Given the description of an element on the screen output the (x, y) to click on. 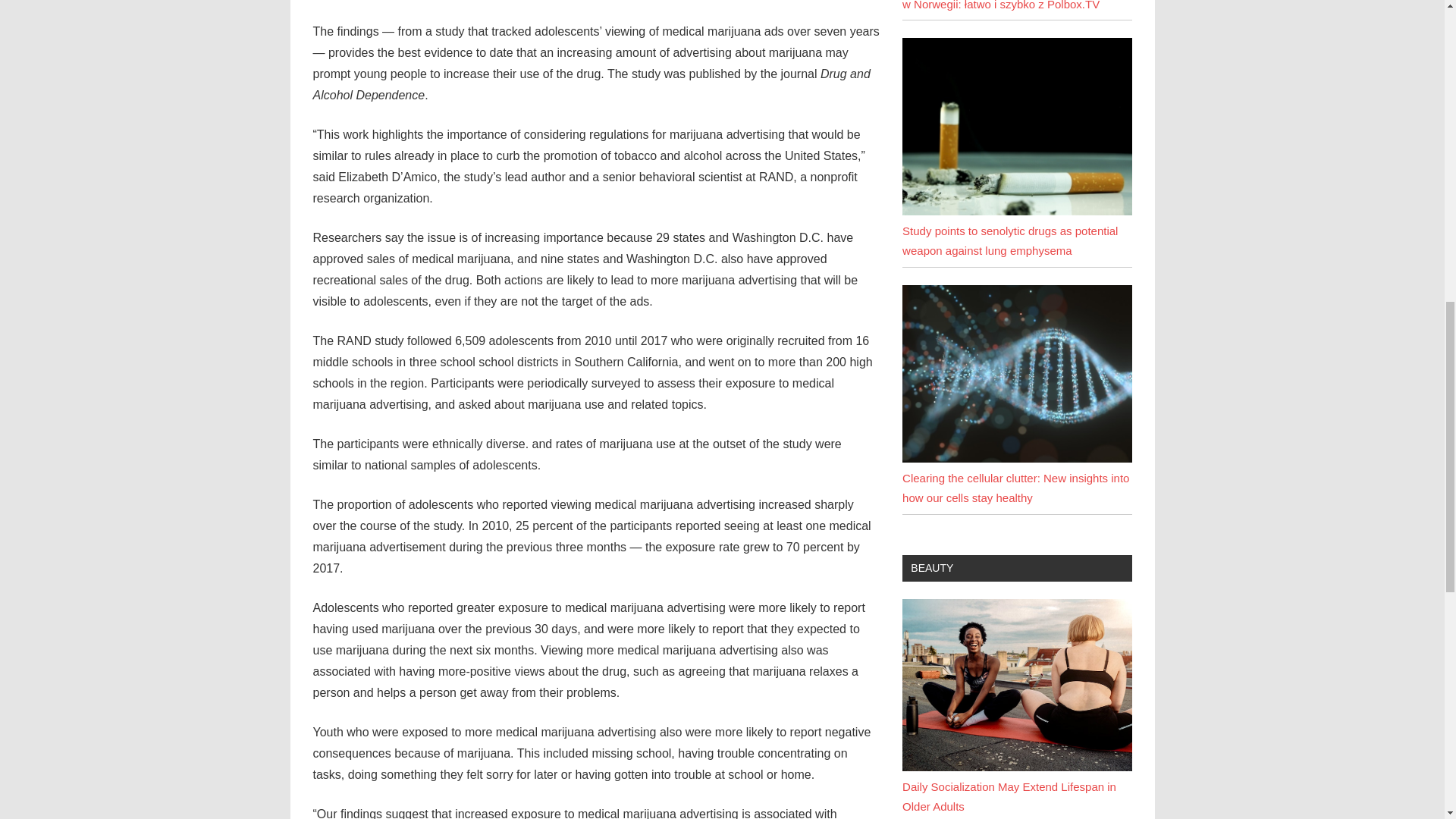
Daily Socialization May Extend Lifespan in Older Adults (1016, 684)
Daily Socialization May Extend Lifespan in Older Adults (1016, 766)
Daily Socialization May Extend Lifespan in Older Adults (1009, 796)
